Given the description of an element on the screen output the (x, y) to click on. 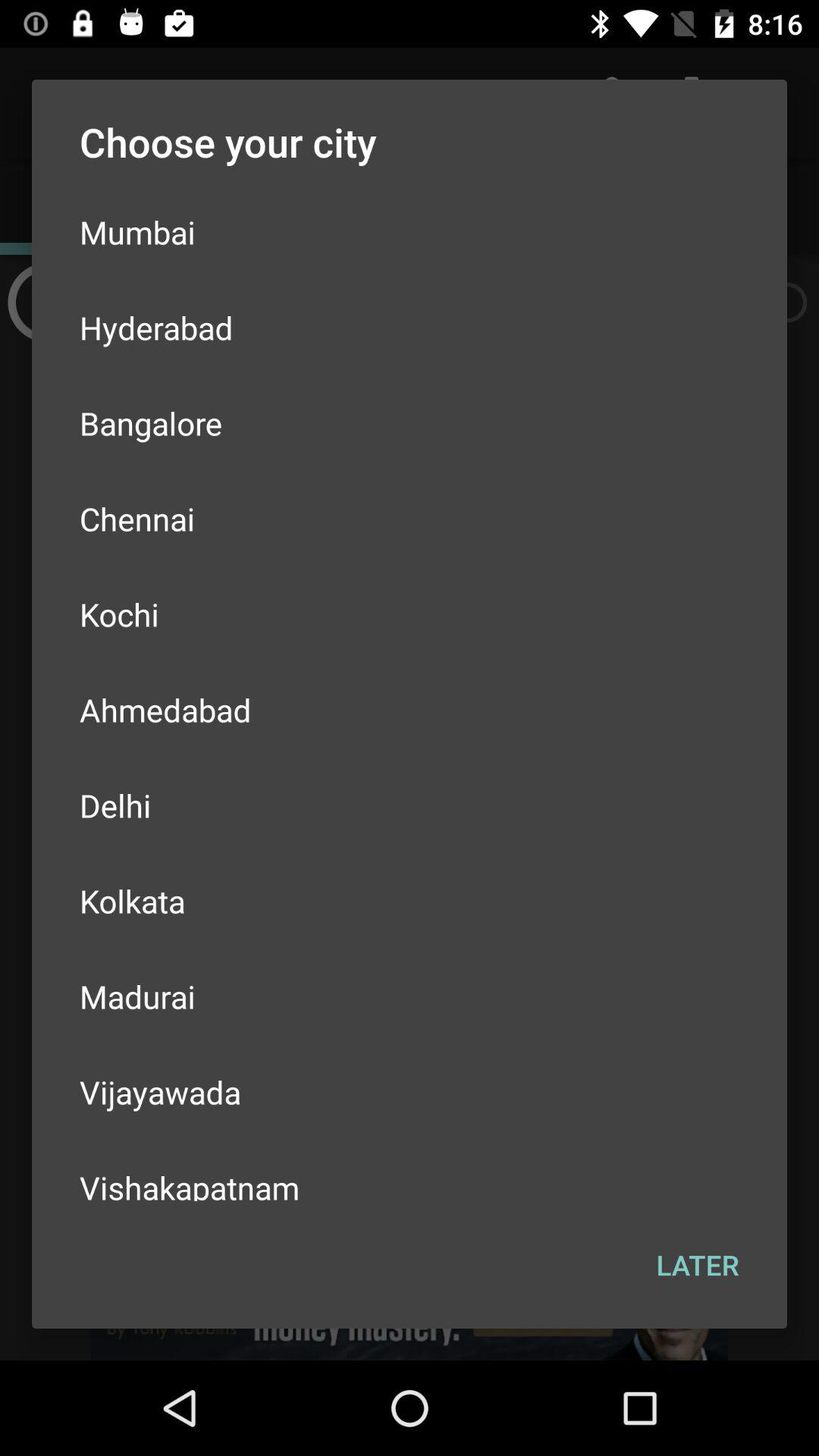
select kolkata icon (409, 900)
